Given the description of an element on the screen output the (x, y) to click on. 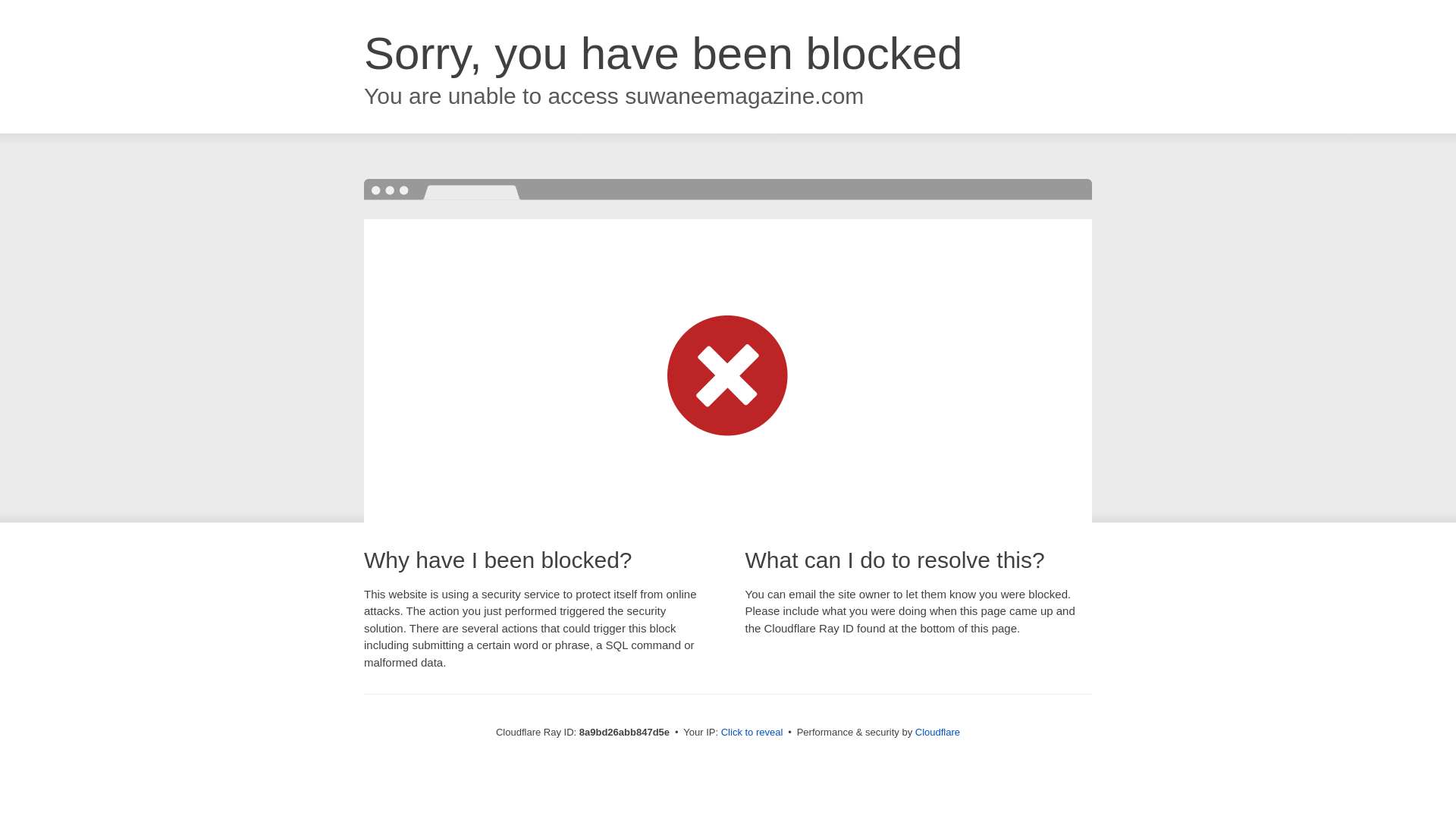
Cloudflare (937, 731)
Click to reveal (751, 732)
